Given the description of an element on the screen output the (x, y) to click on. 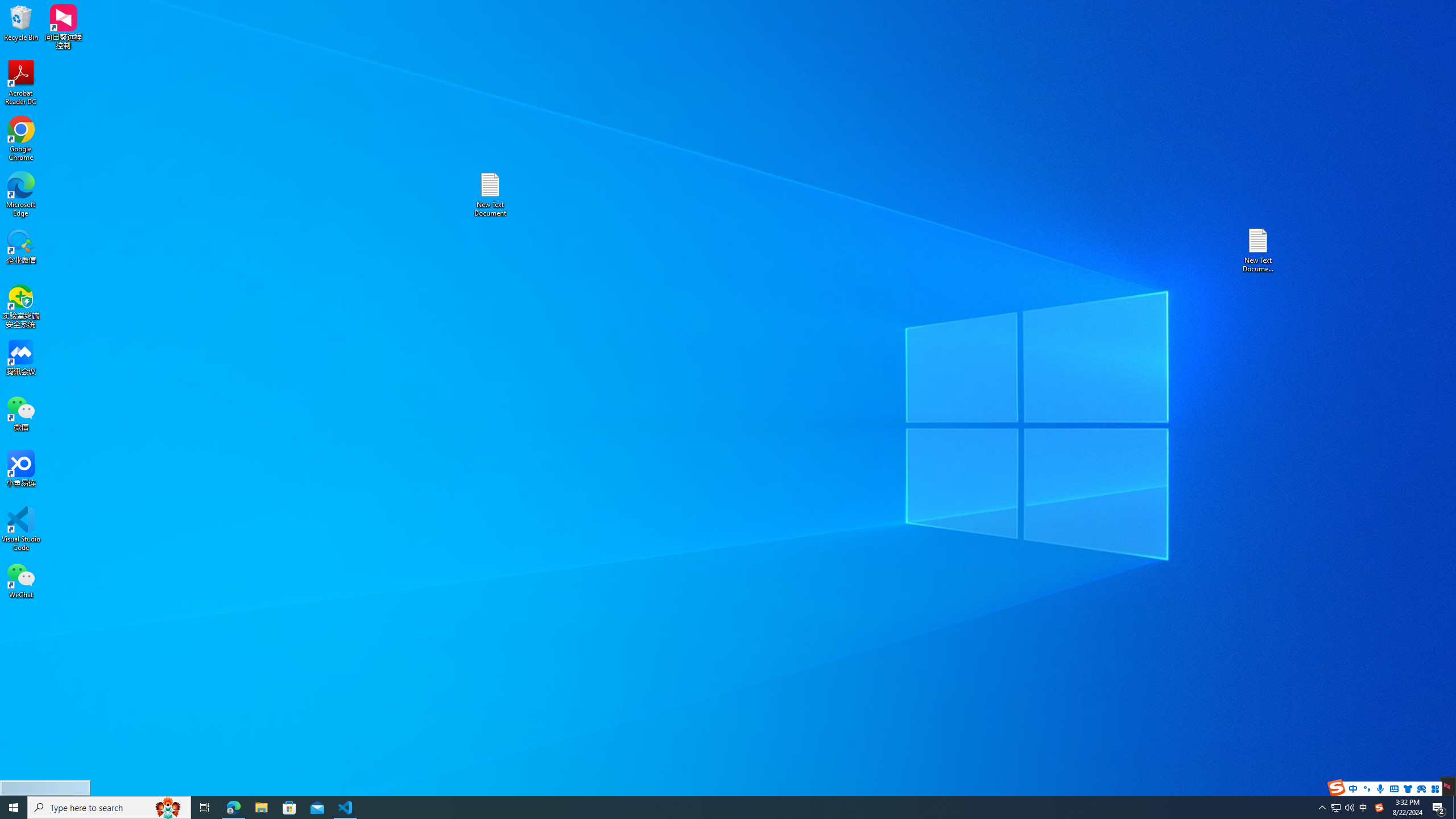
New Text Document (2) (1258, 250)
Google Chrome (21, 138)
Running applications (707, 807)
New Text Document (489, 194)
Action Center, 2 new notifications (1439, 807)
Visual Studio Code (21, 528)
Settings - 1 running window (373, 807)
Microsoft Edge (21, 194)
